Given the description of an element on the screen output the (x, y) to click on. 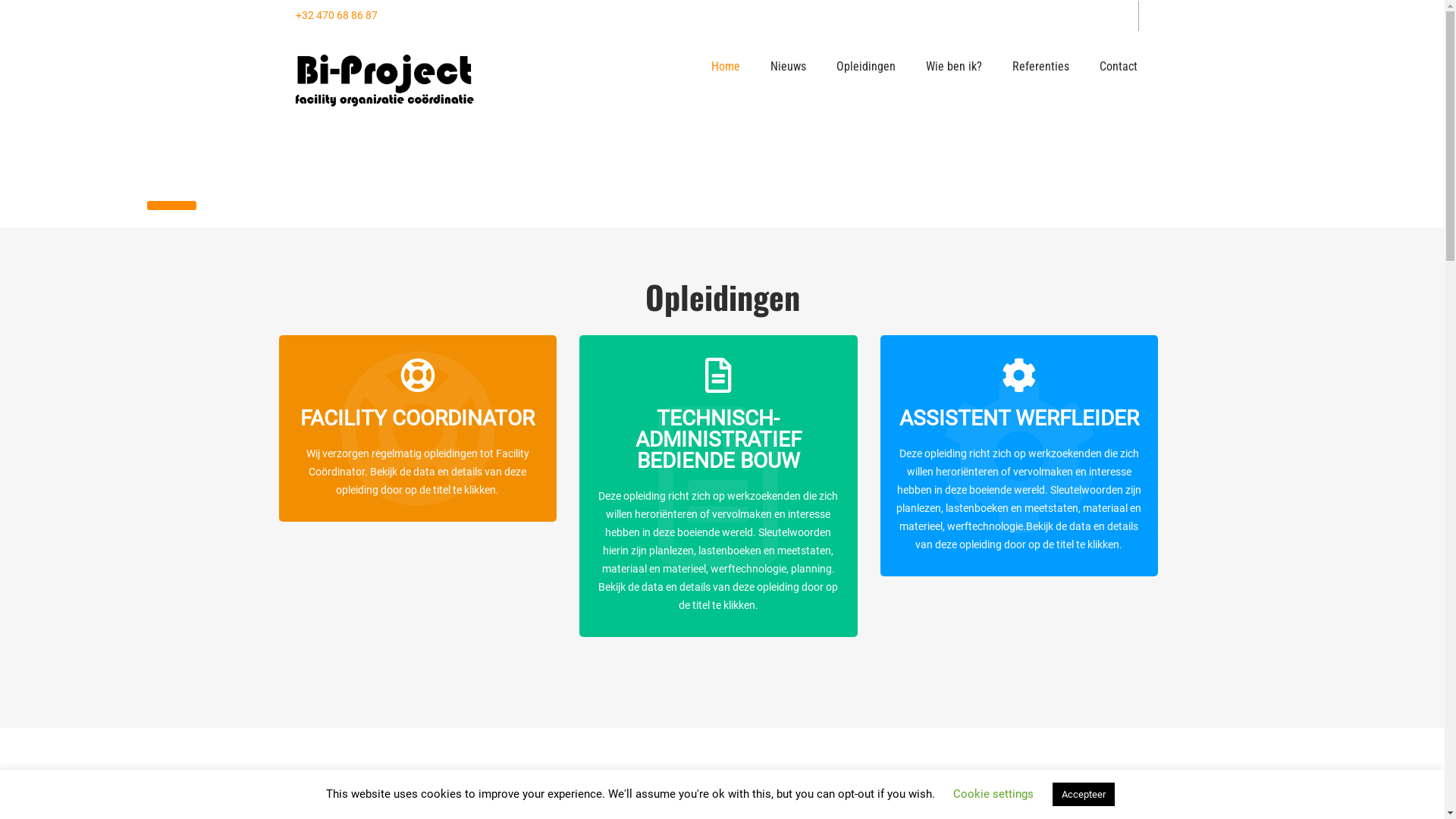
Home Element type: text (725, 66)
Cookie settings Element type: text (993, 793)
Wie ben ik? Element type: text (952, 66)
Referenties Element type: text (1039, 66)
FACILITY COORDINATOR Element type: text (418, 437)
Accepteer Element type: text (1083, 794)
3 Element type: text (224, 205)
Opleidingen Element type: text (865, 66)
ASSISTENT WERFLEIDER Element type: text (1019, 437)
Nieuws Element type: text (787, 66)
1 Element type: text (118, 205)
2 Element type: text (171, 205)
Contact Element type: text (1118, 66)
TECHNISCH- ADMINISTRATIEF BEDIENDE BOUW Element type: text (718, 459)
